Given the description of an element on the screen output the (x, y) to click on. 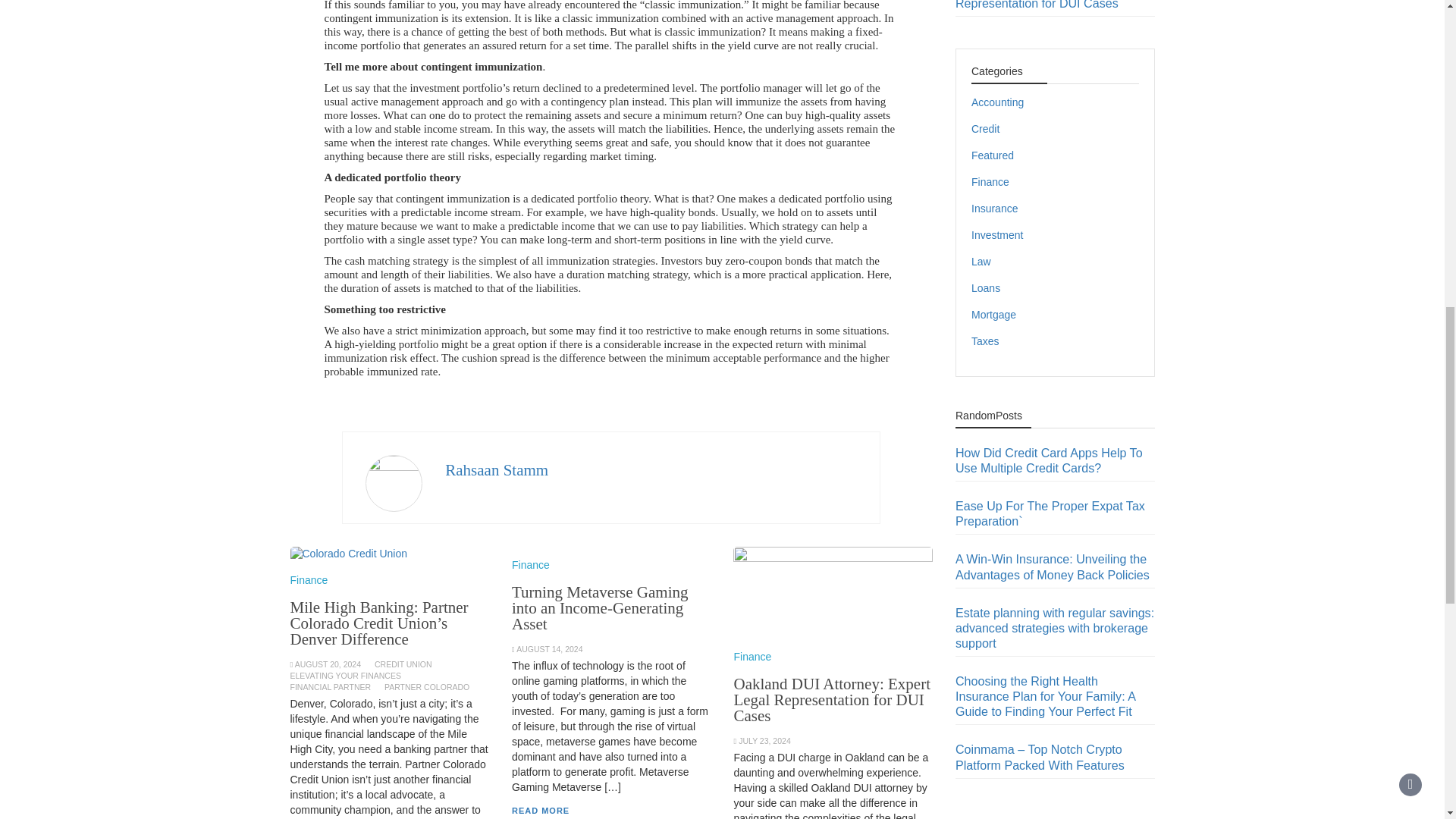
Rahsaan Stamm (496, 470)
AUGUST 14, 2024 (549, 648)
Finance (308, 580)
AUGUST 20, 2024 (328, 664)
Finance (752, 656)
CREDIT UNION (403, 664)
FINANCIAL PARTNER (330, 686)
PARTNER COLORADO (426, 686)
READ MORE (540, 809)
